Given the description of an element on the screen output the (x, y) to click on. 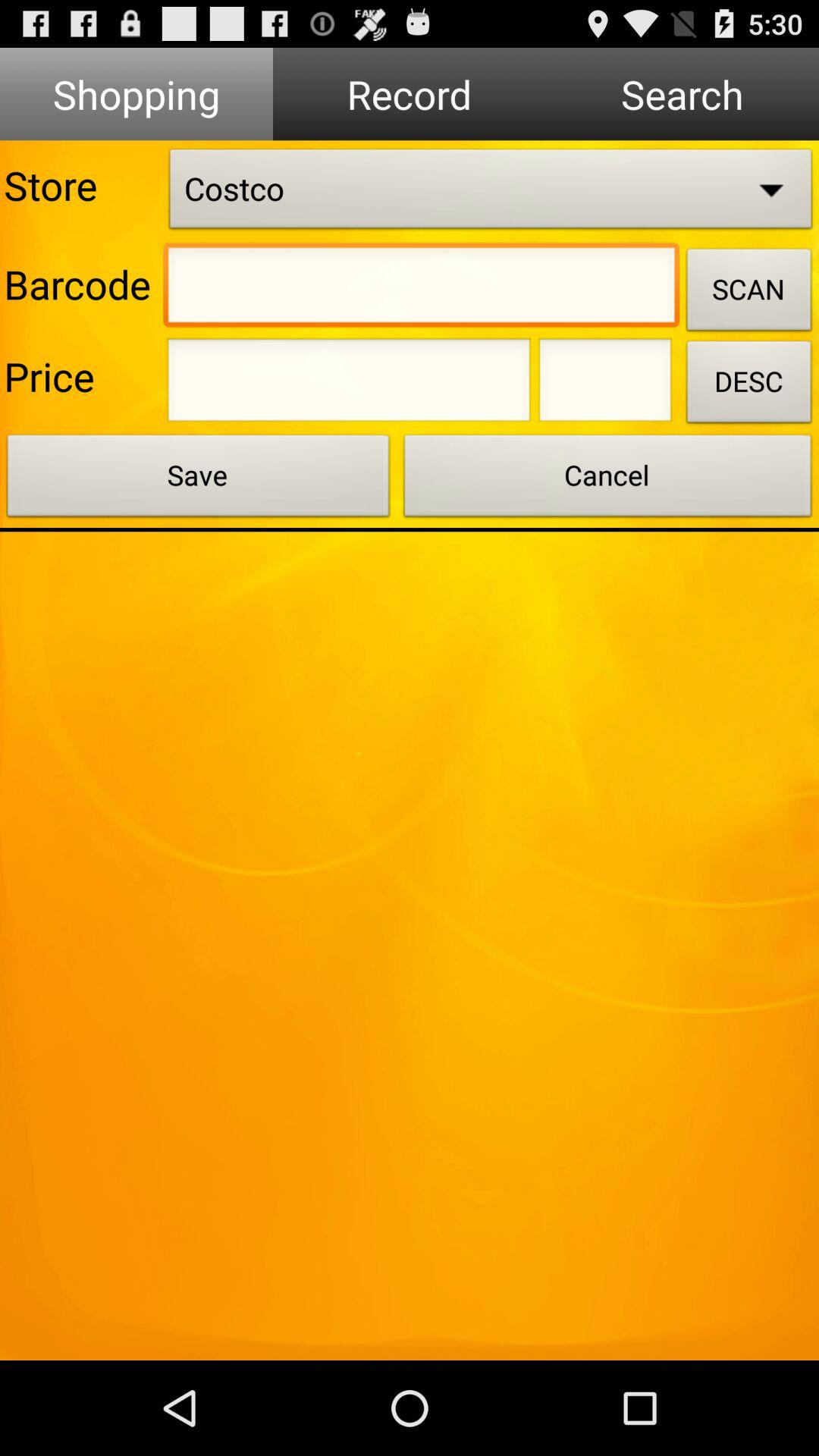
price amount type botton (348, 384)
